Given the description of an element on the screen output the (x, y) to click on. 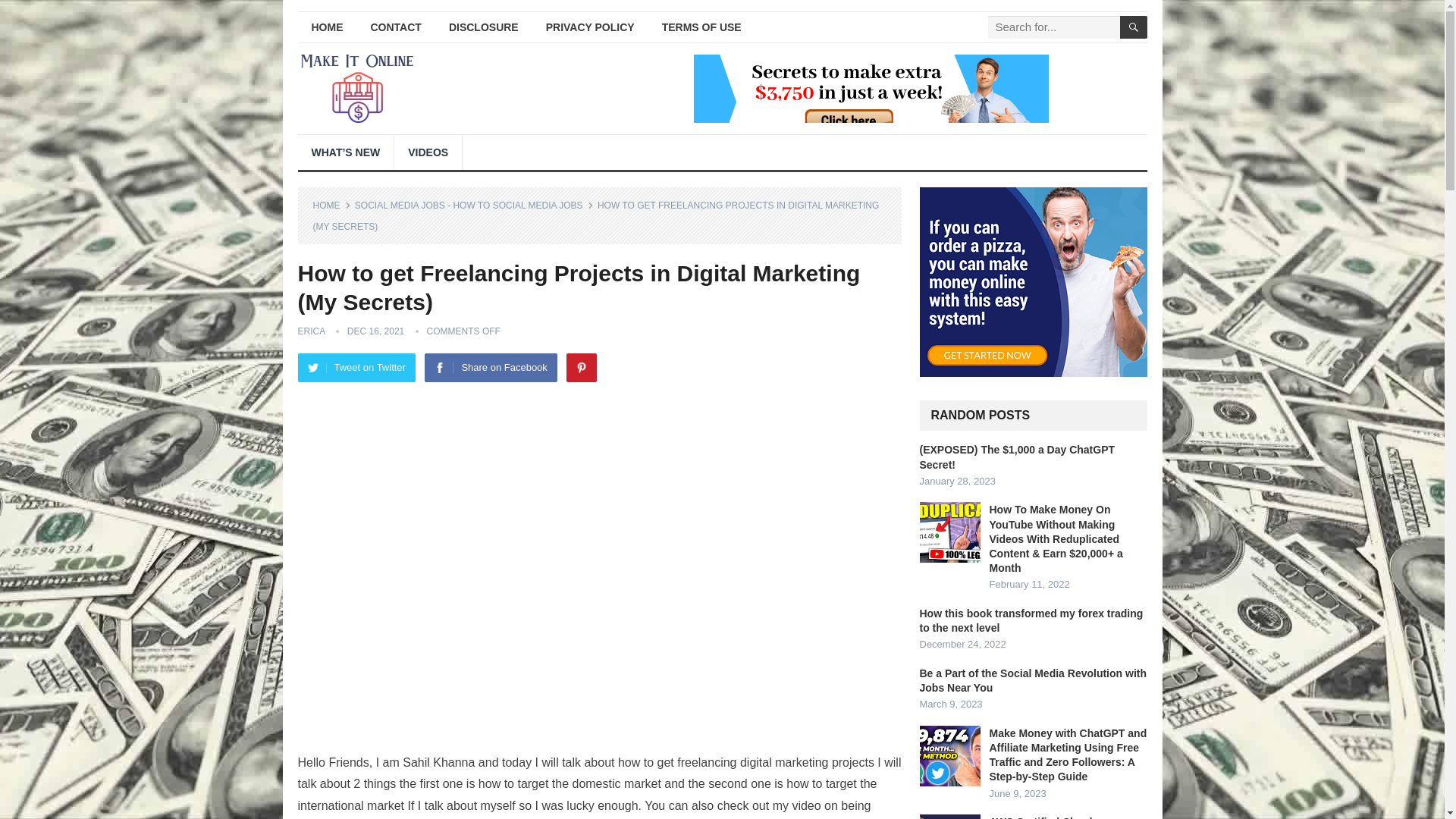
Tweet on Twitter (355, 367)
HOME (326, 27)
Share on Facebook (490, 367)
VIDEOS (427, 152)
PRIVACY POLICY (589, 27)
TERMS OF USE (701, 27)
HOME (331, 204)
CONTACT (394, 27)
DISCLOSURE (483, 27)
Pinterest (581, 367)
SOCIAL MEDIA JOBS - HOW TO SOCIAL MEDIA JOBS (474, 204)
ERICA (310, 330)
